Given the description of an element on the screen output the (x, y) to click on. 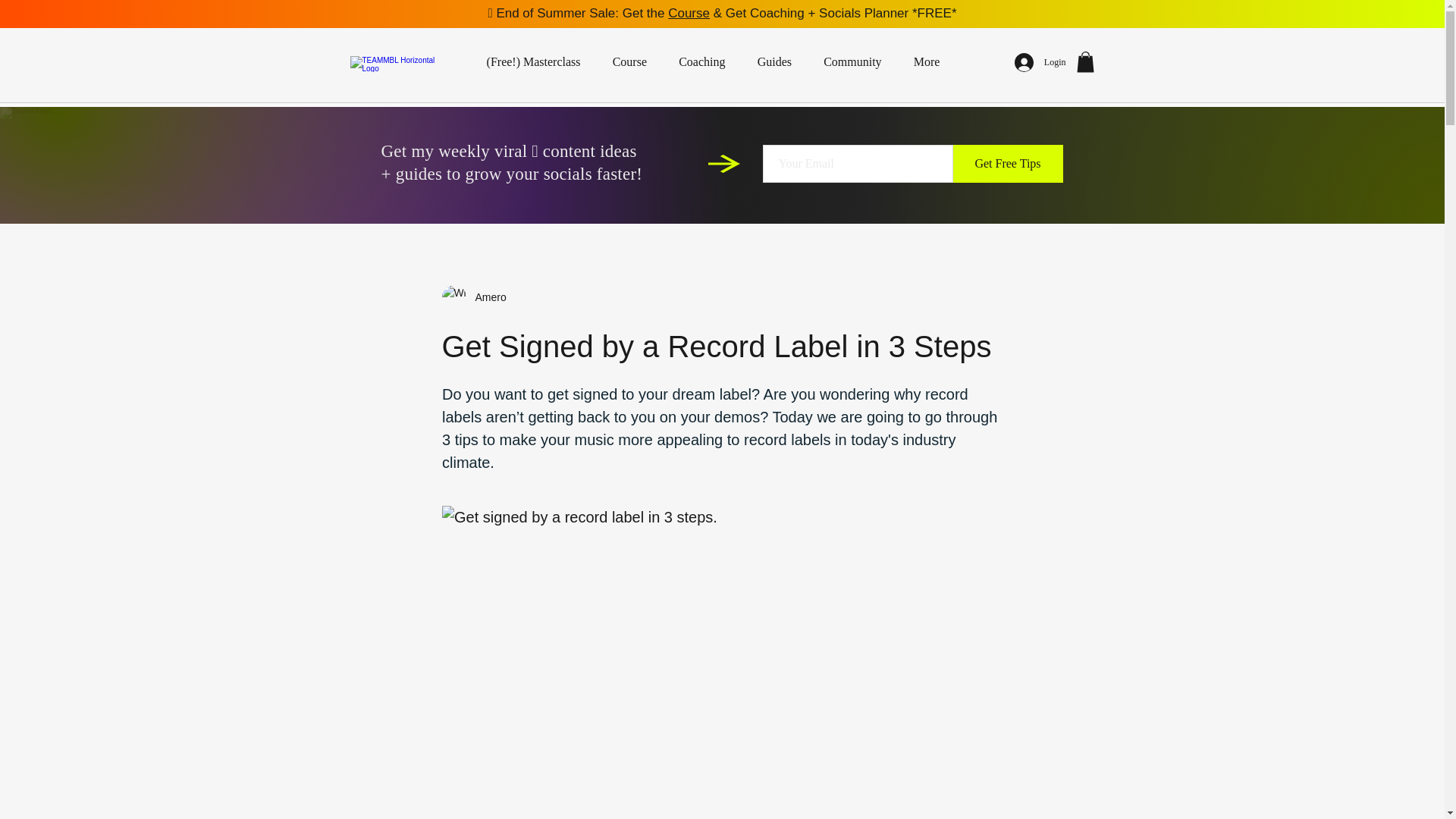
Planner (671, 163)
Course (467, 163)
Course (629, 61)
Presets (773, 163)
Amero (485, 297)
Login (1040, 62)
Coaching (701, 61)
Guides (774, 61)
Mastering (874, 163)
Coaching (569, 163)
